Given the description of an element on the screen output the (x, y) to click on. 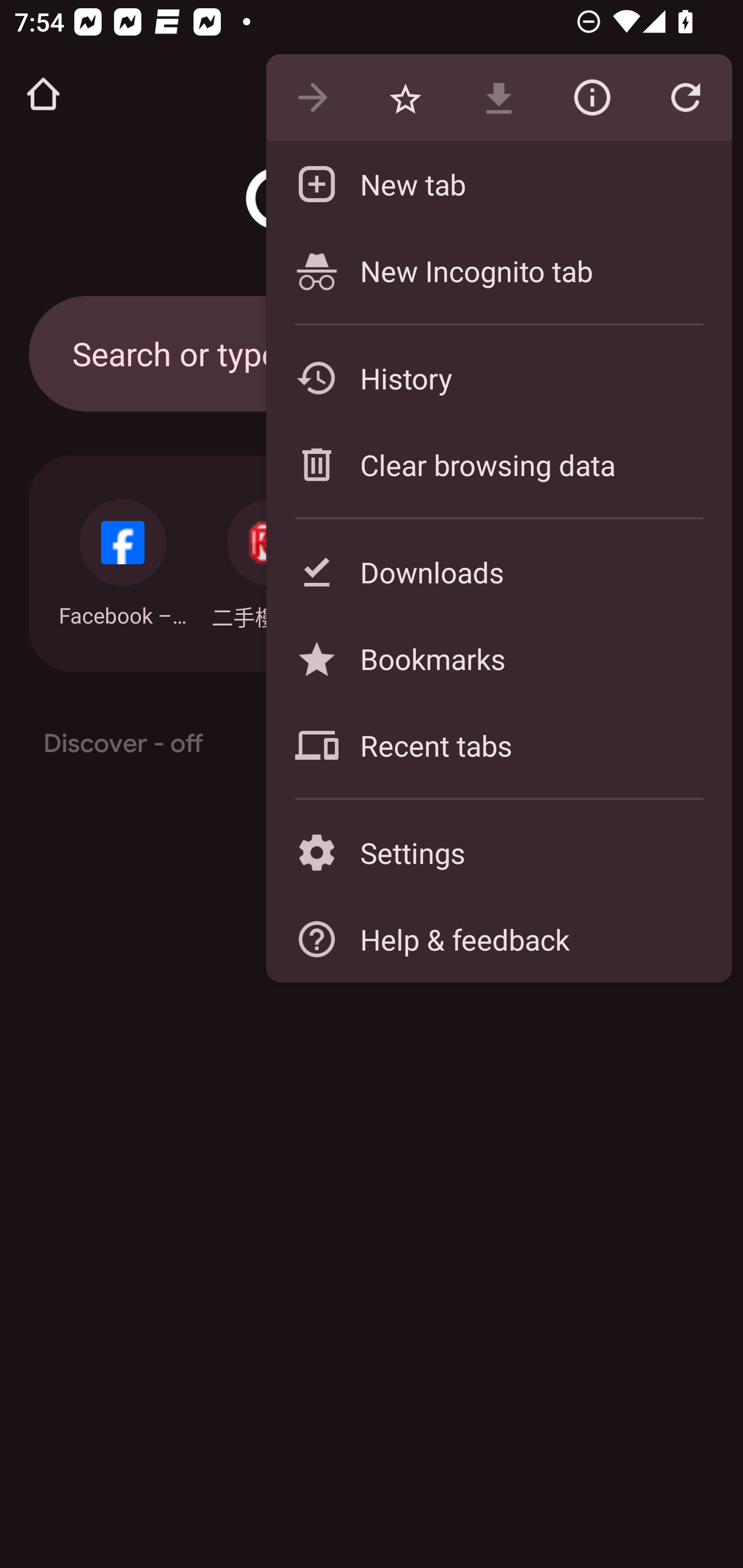
Forward (311, 97)
Bookmark (404, 97)
Download (498, 97)
Page info (591, 97)
Refresh (684, 97)
New tab (498, 184)
New Incognito tab (498, 270)
History (498, 377)
Clear browsing data (498, 464)
Downloads (498, 571)
Bookmarks (498, 658)
Recent tabs (498, 745)
Settings (498, 852)
Help & feedback (498, 939)
